Given the description of an element on the screen output the (x, y) to click on. 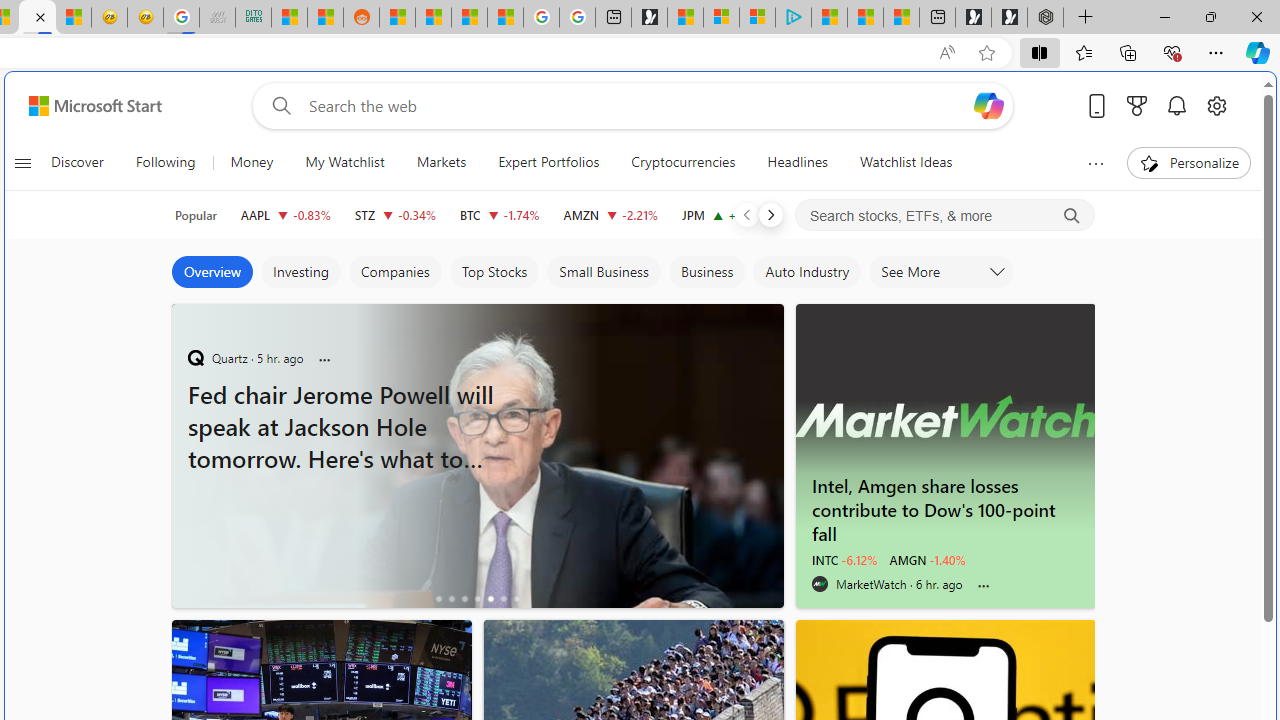
STZ CONSTELLATION BRANDS, INC. decrease 243.92 -0.82 -0.34% (395, 214)
MarketWatch (819, 583)
Expert Portfolios (548, 162)
Markets (440, 162)
2024 Time Limited Rental Deals (476, 453)
My Watchlist (344, 162)
